Given the description of an element on the screen output the (x, y) to click on. 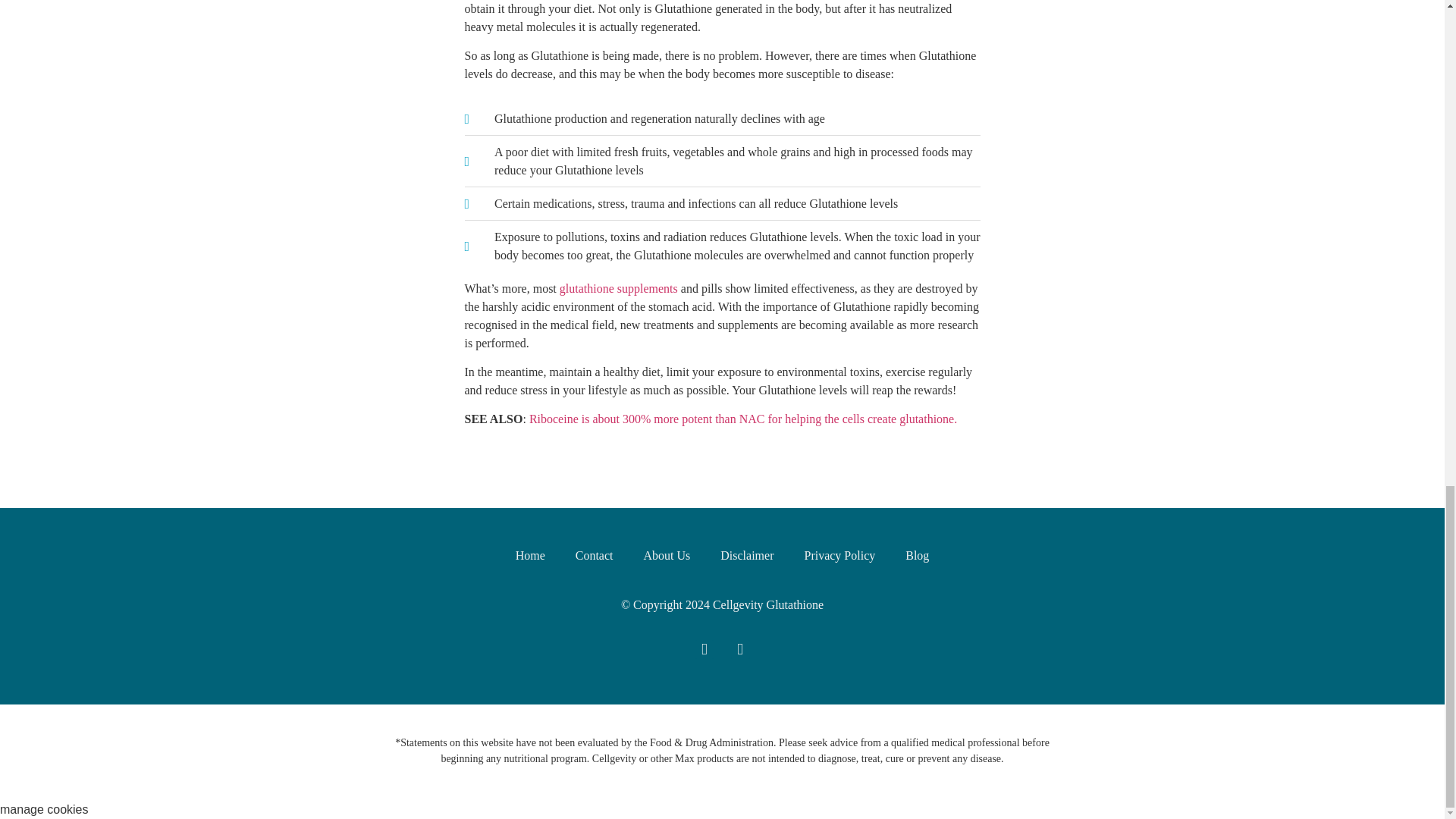
Privacy Policy (839, 555)
Contact (594, 555)
About Us (665, 555)
Disclaimer (746, 555)
glutathione supplements (618, 287)
Home (530, 555)
Blog (916, 555)
